Given the description of an element on the screen output the (x, y) to click on. 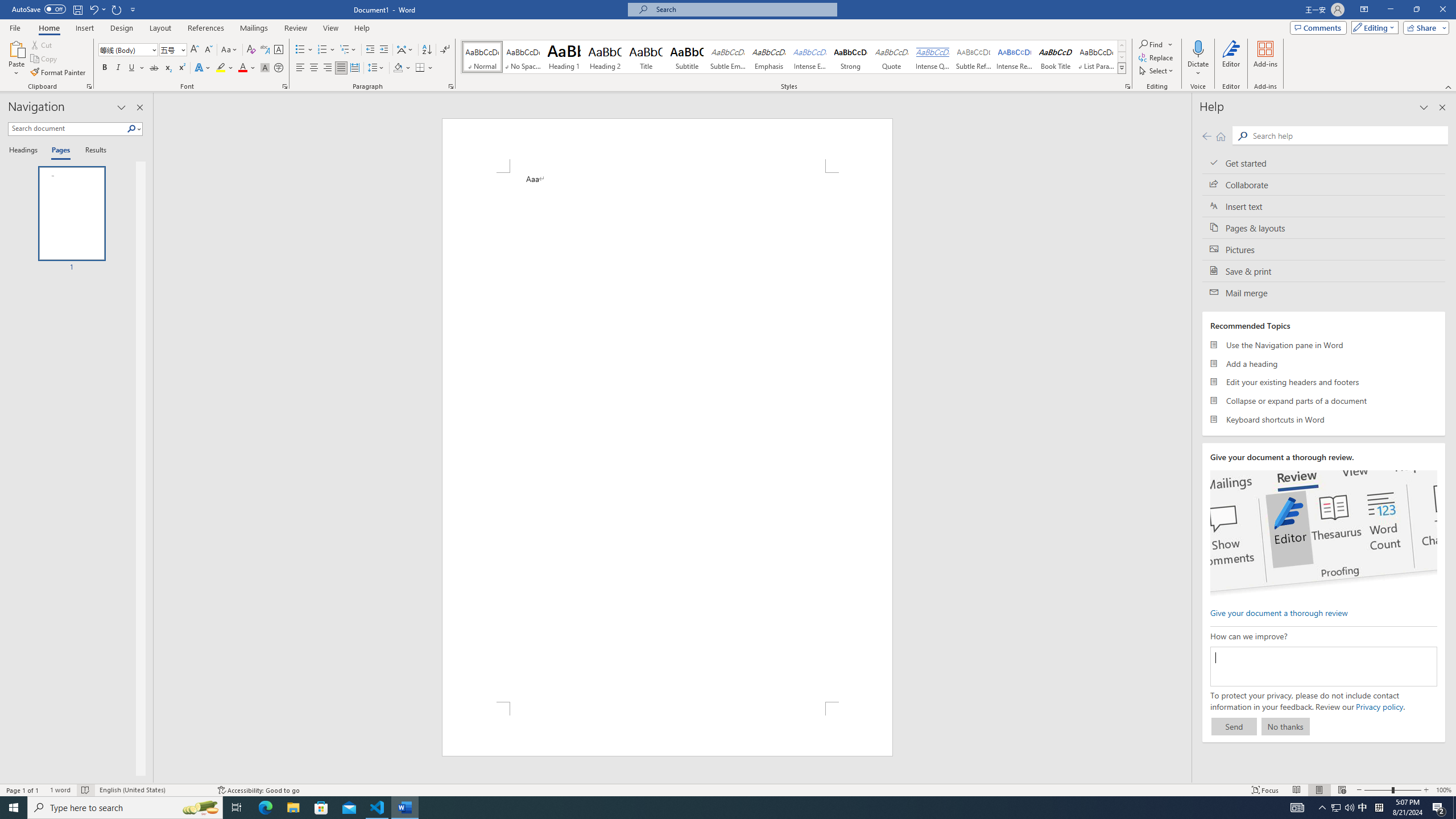
Zoom (1392, 790)
editor ui screenshot (1323, 533)
Layout (160, 28)
Find (1151, 44)
References (205, 28)
Borders (424, 67)
Asian Layout (405, 49)
AutomationID: QuickStylesGallery (794, 56)
Underline (136, 67)
Read Mode (1296, 790)
Page Number Page 1 of 1 (22, 790)
Align Left (300, 67)
Shading RGB(0, 0, 0) (397, 67)
Search (133, 128)
